Given the description of an element on the screen output the (x, y) to click on. 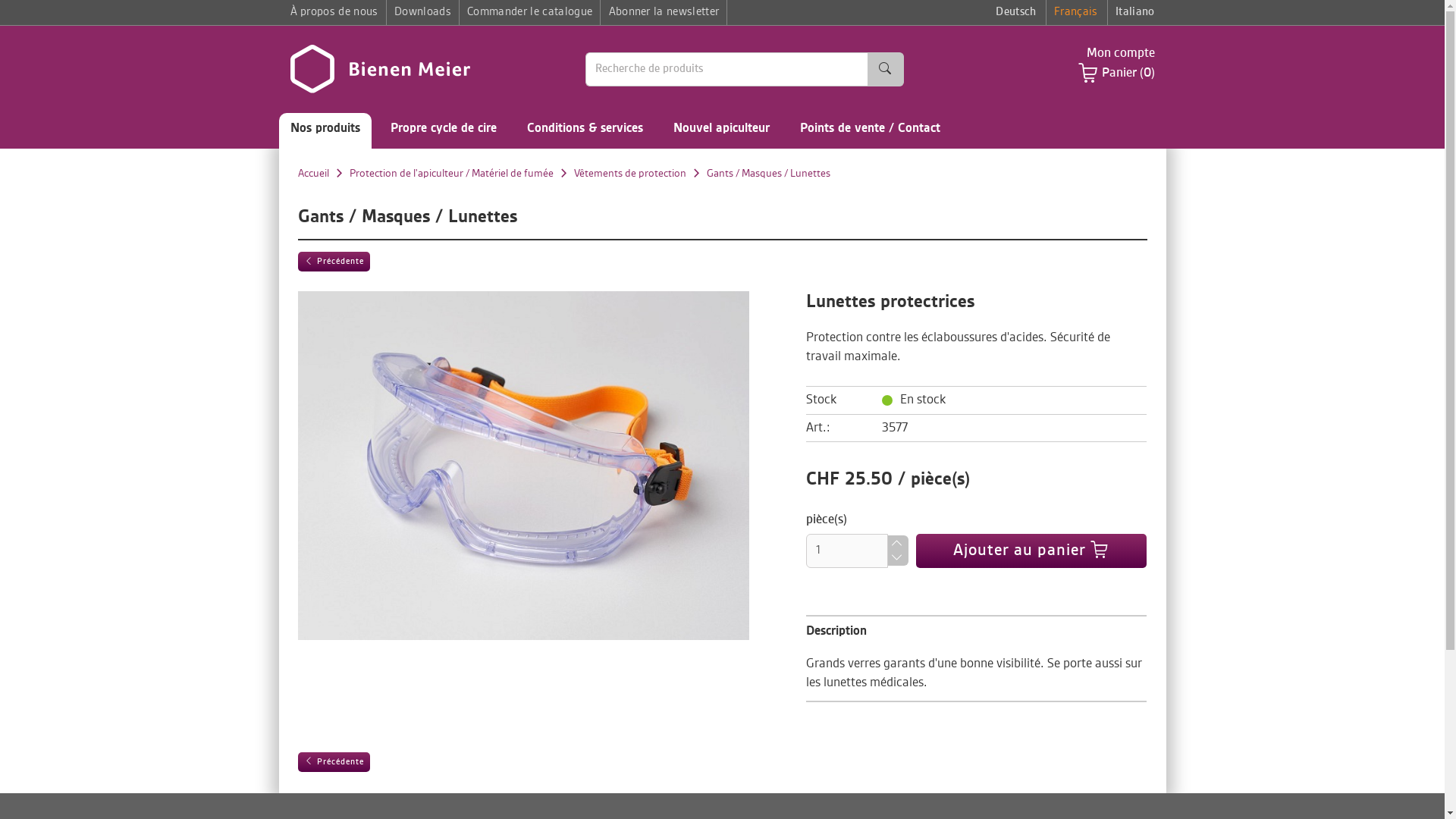
Gants / Masques / Lunettes Element type: text (768, 172)
Ajouter au panier Element type: text (1031, 550)
Italiano Element type: text (1130, 12)
Nos produits Element type: text (325, 130)
Points de vente / Contact Element type: text (869, 130)
Accueil Element type: text (312, 172)
En stock Element type: hover (886, 400)
Commander le catalogue Element type: text (529, 12)
Downloads Element type: text (422, 12)
Conditions & services Element type: text (584, 130)
Panier (0) Element type: text (1127, 73)
Deutsch Element type: text (1015, 12)
Abonner la newsletter Element type: text (664, 12)
Mon compte Element type: text (1119, 52)
Nouvel apiculteur Element type: text (720, 130)
Propre cycle de cire Element type: text (443, 130)
